Given the description of an element on the screen output the (x, y) to click on. 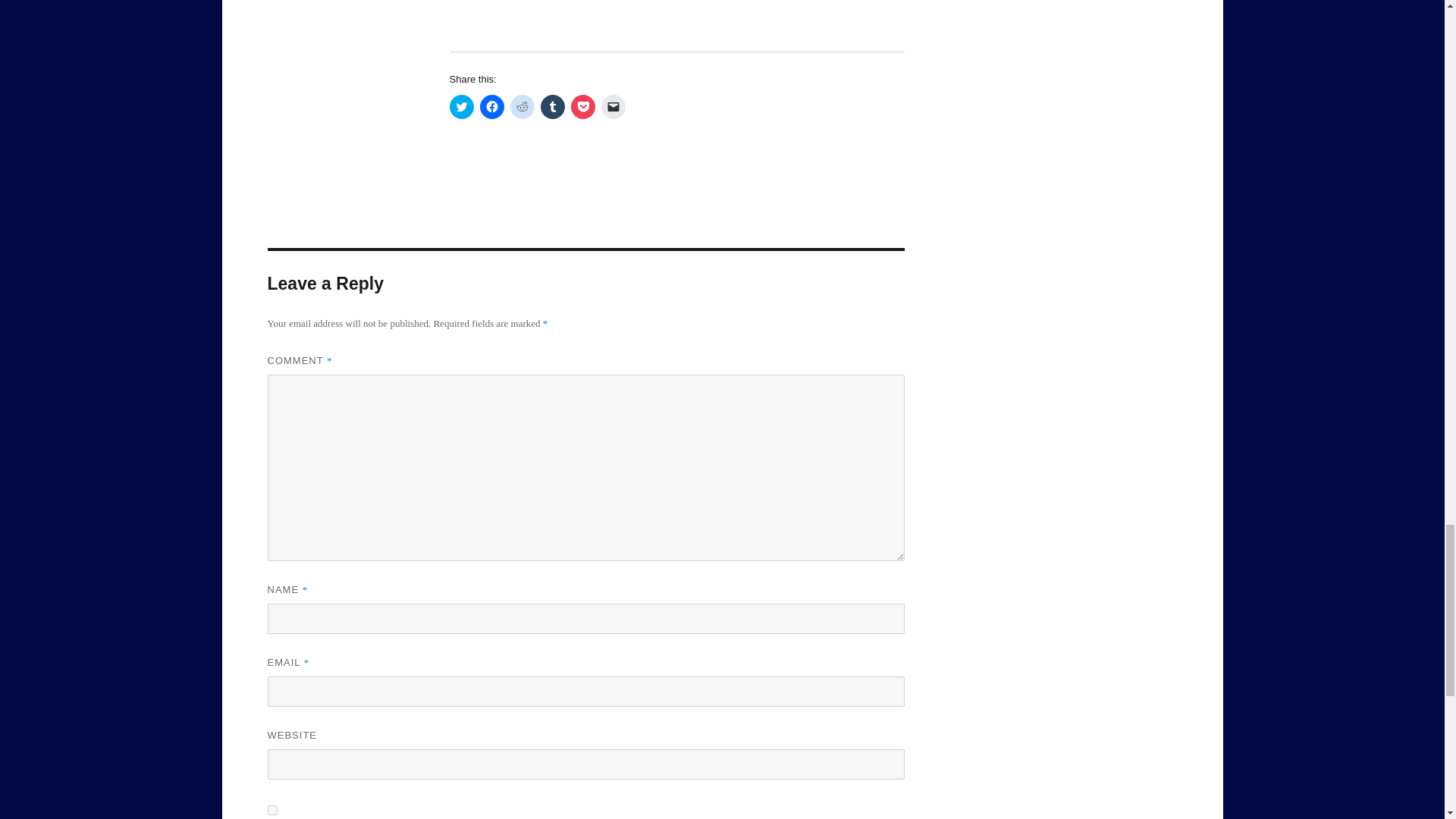
Click to share on Tumblr (552, 106)
Click to share on Pocket (582, 106)
Click to email a link to a friend (611, 106)
Click to share on Facebook (491, 106)
yes (271, 809)
Click to share on Reddit (521, 106)
Click to share on Twitter (460, 106)
